Given the description of an element on the screen output the (x, y) to click on. 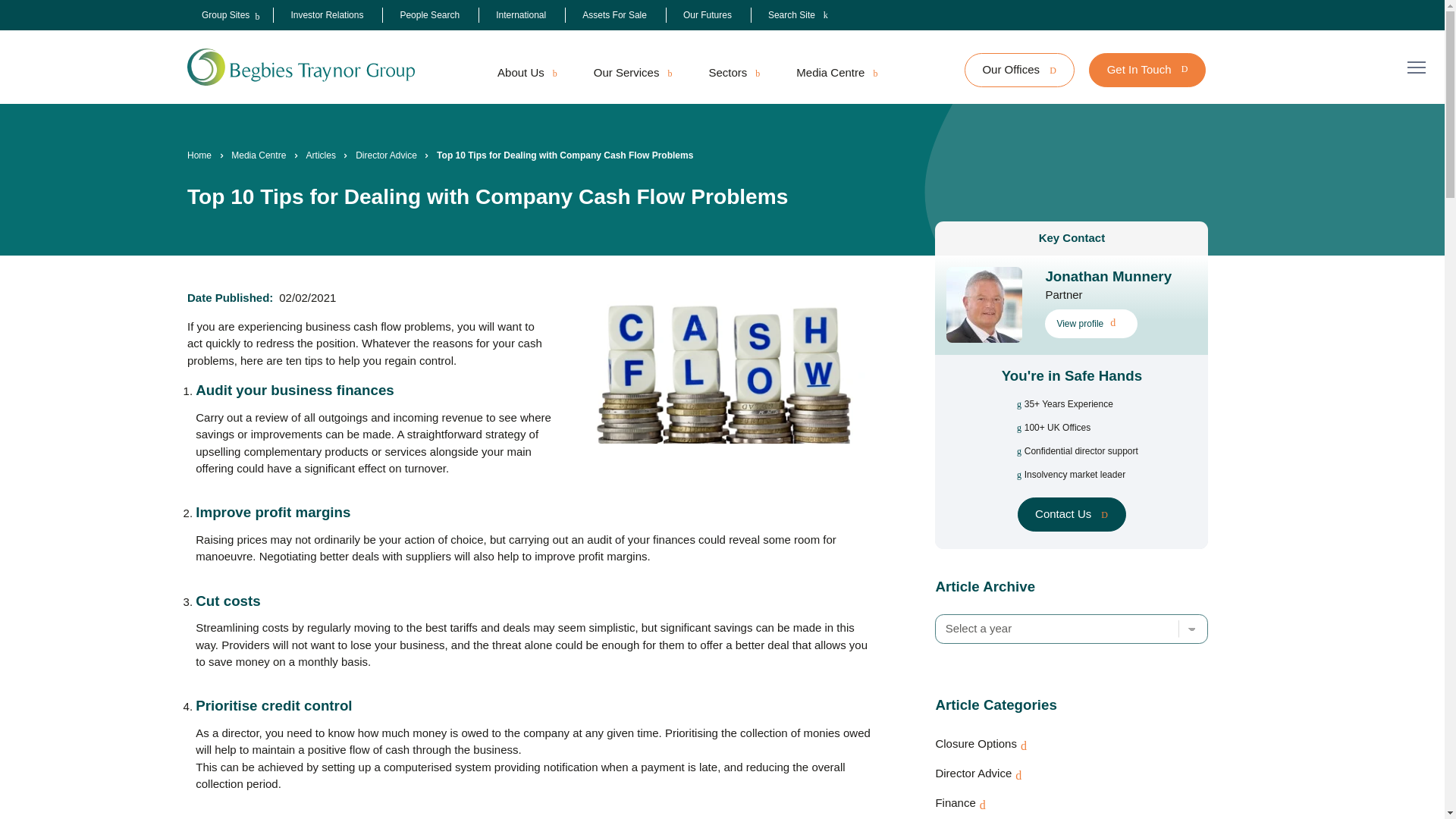
Search Site (798, 15)
Our Services (632, 73)
About Us (527, 73)
Go to Media Centre (258, 155)
Assets For Sale (614, 15)
Go to Articles (320, 155)
Group Sites (225, 15)
Go to Home (199, 155)
People Search (429, 15)
International (521, 15)
Investor Relations (325, 15)
Go to Director Advice (385, 155)
Our Futures (707, 15)
